Given the description of an element on the screen output the (x, y) to click on. 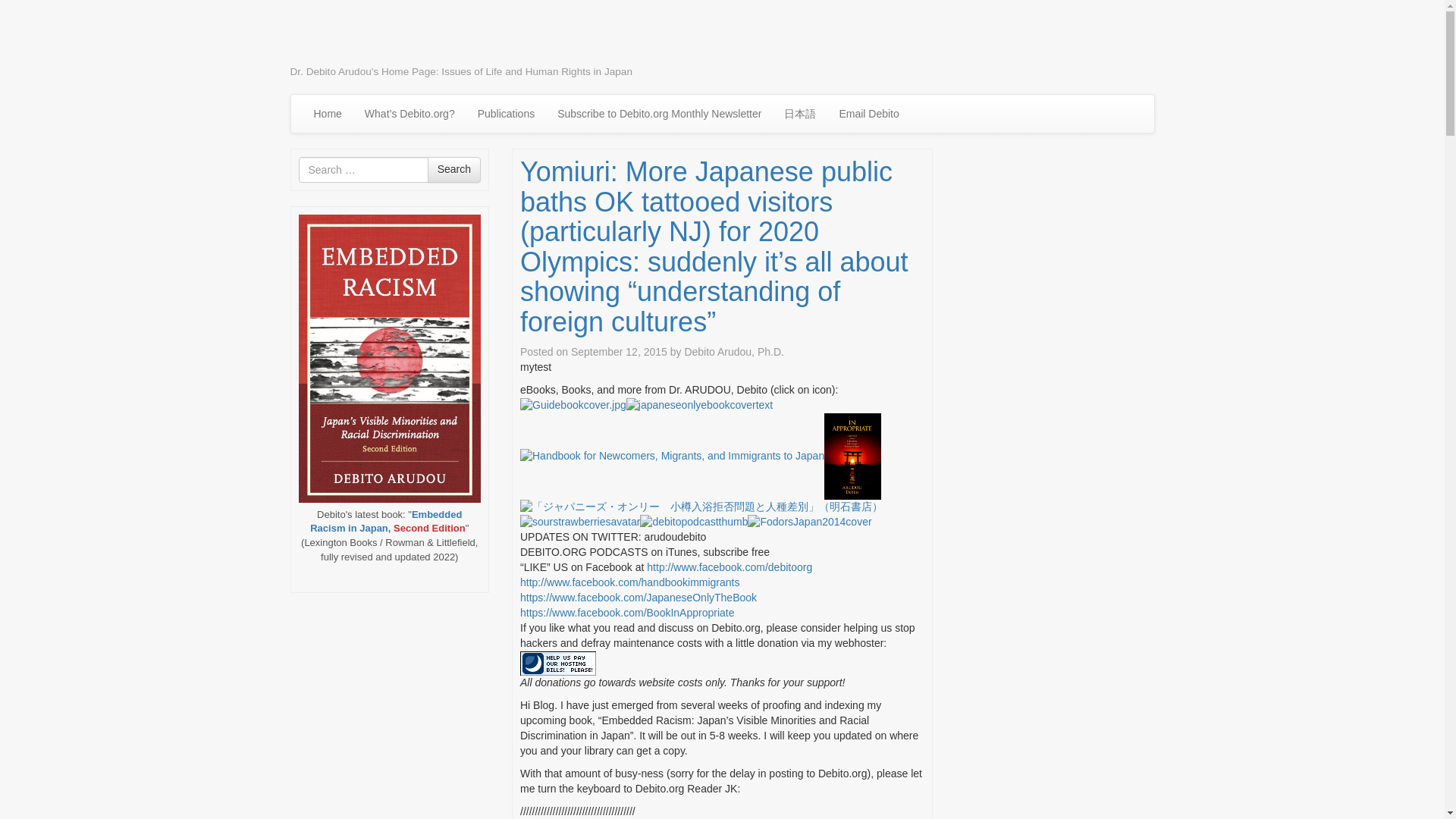
debito.org (349, 35)
jobookcover (700, 507)
debito.org (349, 35)
Search (454, 169)
Debito Arudou, Ph.D. (734, 351)
sourstrawberriesavatar (579, 522)
6:16 pm (618, 351)
Publications (506, 113)
Embedded Racism in Japan, Second Edition (387, 521)
September 12, 2015 (618, 351)
